Given the description of an element on the screen output the (x, y) to click on. 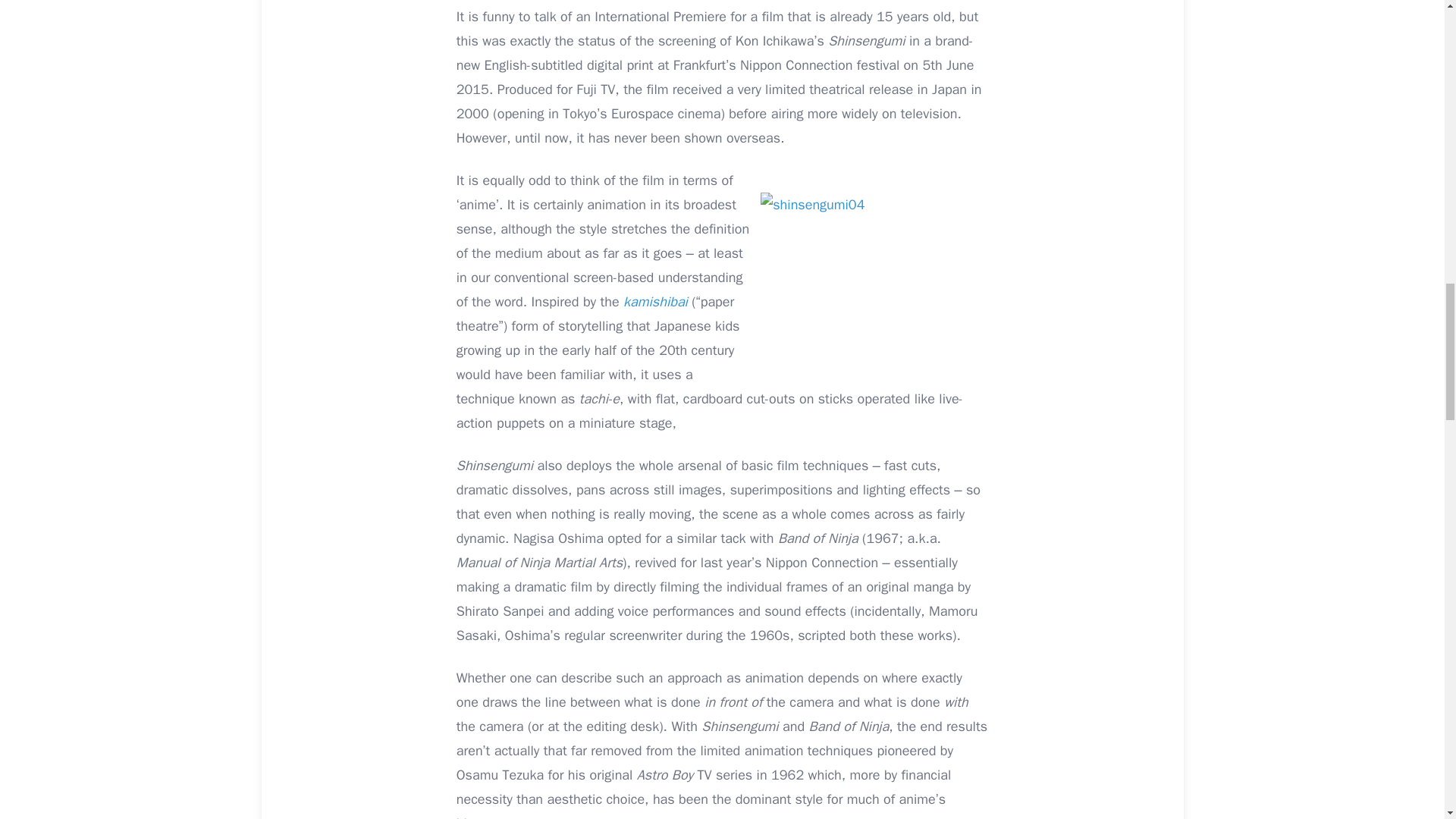
kamishibai (655, 301)
